Given the description of an element on the screen output the (x, y) to click on. 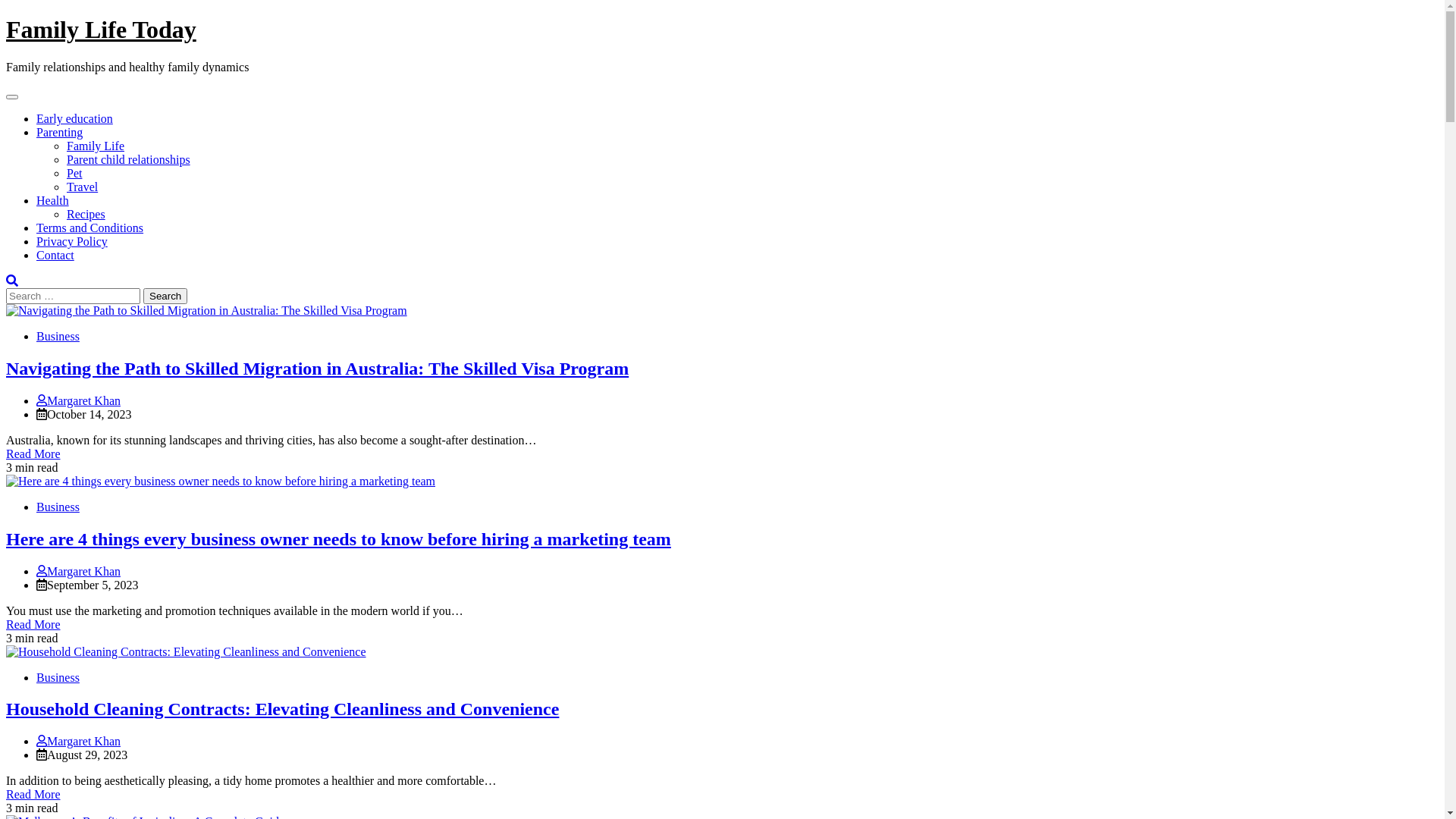
Parenting Element type: text (59, 131)
Read More Element type: text (33, 453)
Skip to content Element type: text (5, 15)
Margaret Khan Element type: text (78, 400)
Contact Element type: text (55, 254)
Business Element type: text (57, 676)
Family Life Element type: text (95, 145)
Parent child relationships Element type: text (128, 159)
Margaret Khan Element type: text (78, 570)
Read More Element type: text (33, 793)
Early education Element type: text (74, 118)
Business Element type: text (57, 335)
Family Life Today Element type: text (101, 29)
Search Element type: text (165, 296)
Read More Element type: text (33, 623)
Privacy Policy Element type: text (71, 241)
Margaret Khan Element type: text (78, 740)
Pet Element type: text (73, 172)
Business Element type: text (57, 506)
Health Element type: text (52, 200)
Travel Element type: text (81, 186)
Terms and Conditions Element type: text (89, 227)
Search Element type: hover (12, 280)
Recipes Element type: text (85, 213)
